Given the description of an element on the screen output the (x, y) to click on. 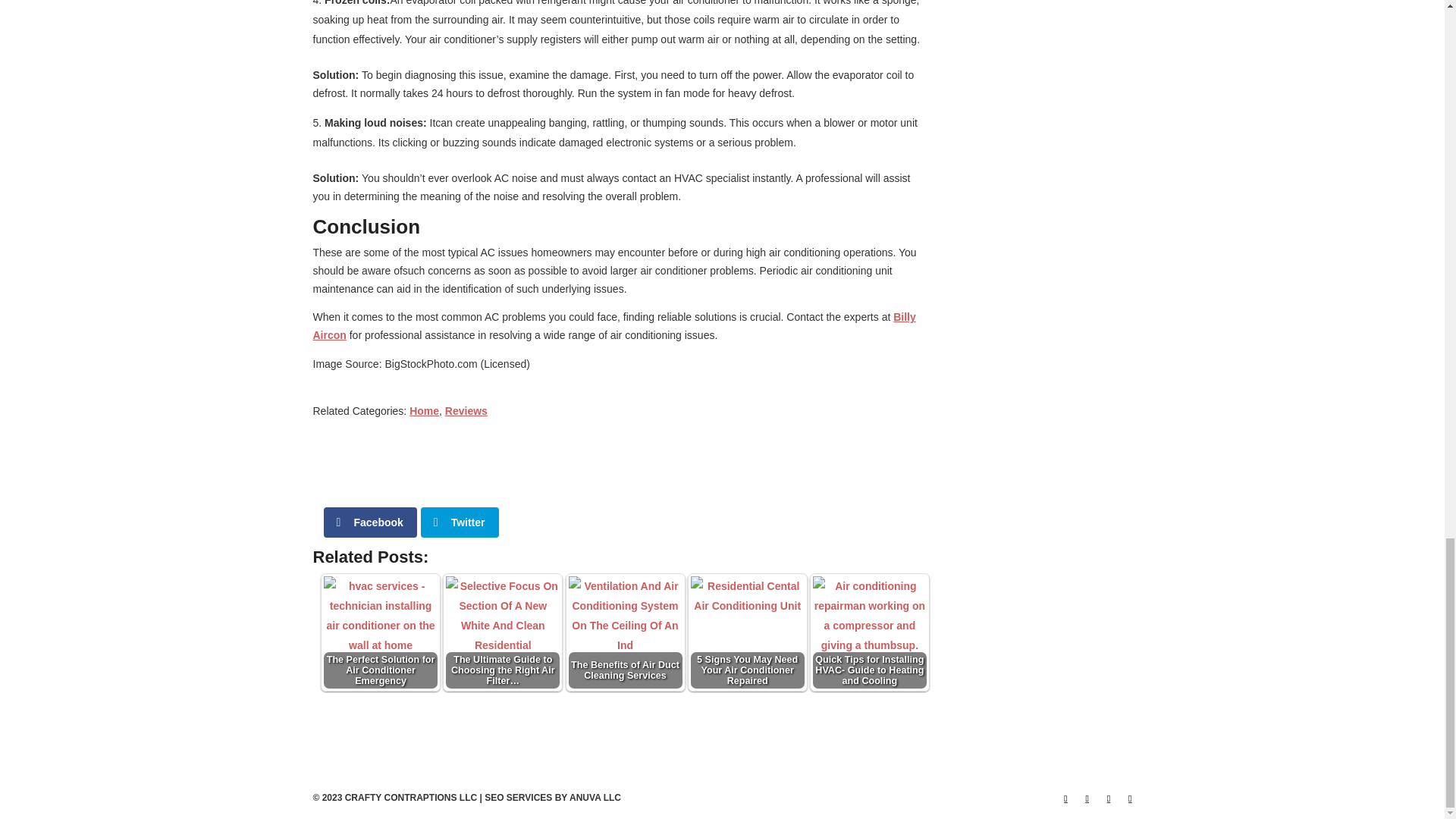
Billy Aircon (614, 326)
The Benefits of Air Duct Cleaning Services (625, 633)
5 Signs You May Need Your Air Conditioner Repaired (747, 620)
Quick Tips for Installing HVAC- Guide to Heating and Cooling (869, 613)
The Perfect Solution for Air Conditioner Emergency (380, 613)
Reviews (466, 410)
SEO SERVICES (517, 797)
Facebook (369, 521)
Twitter (459, 521)
ANUVA LLC (595, 797)
Quick Tips for Installing HVAC- Guide to Heating and Cooling (869, 632)
The Benefits of Air Duct Cleaning Services (625, 632)
5 Signs You May Need Your Air Conditioner Repaired (747, 632)
The Perfect Solution for Air Conditioner Emergency (380, 632)
